Given the description of an element on the screen output the (x, y) to click on. 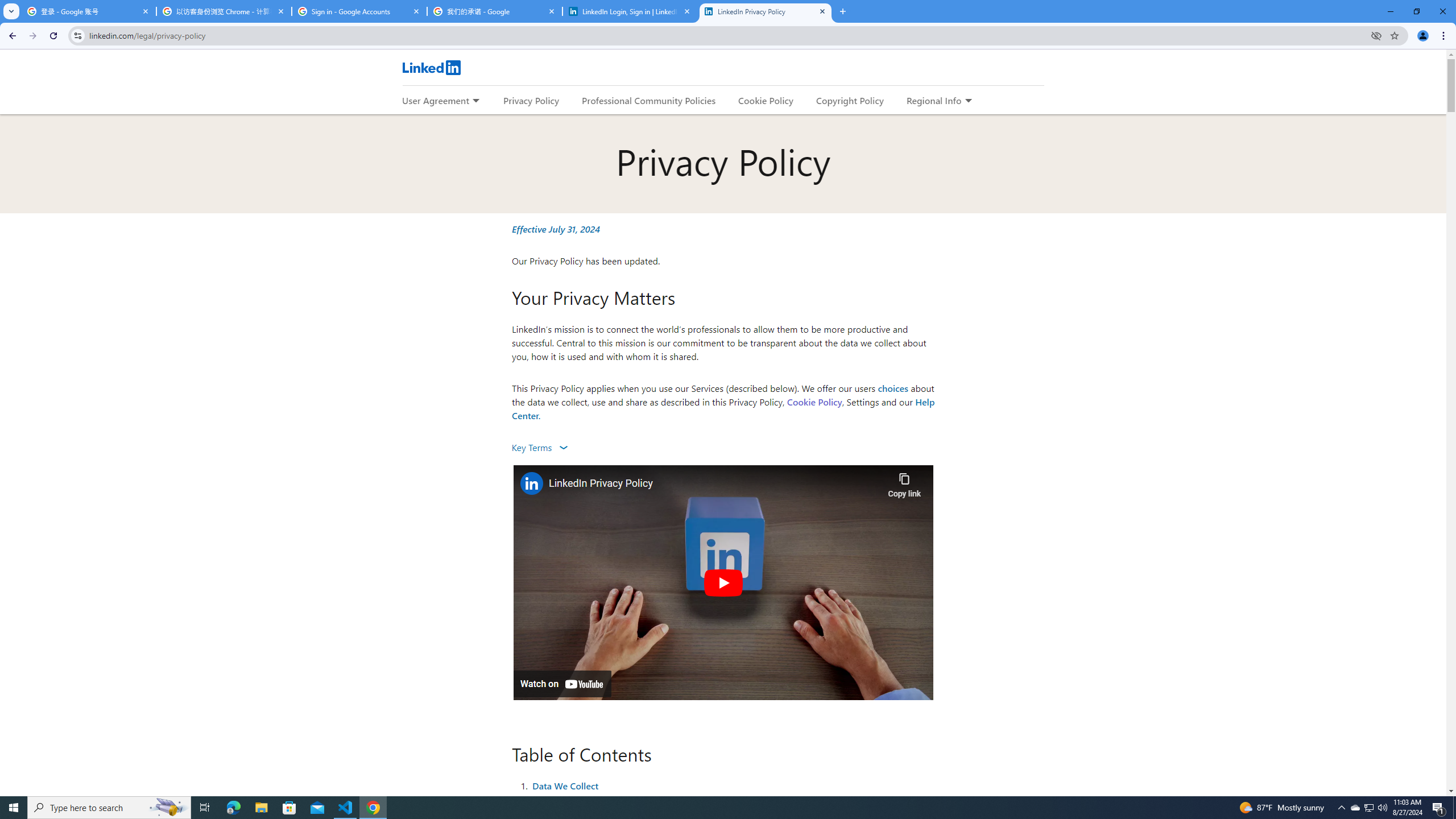
Expand to show more links for Regional Info (967, 101)
Key Terms  (539, 447)
Regional Info (933, 100)
User Agreement (434, 100)
Watch on YouTube (561, 683)
Photo image of LinkedIn (531, 482)
